Given the description of an element on the screen output the (x, y) to click on. 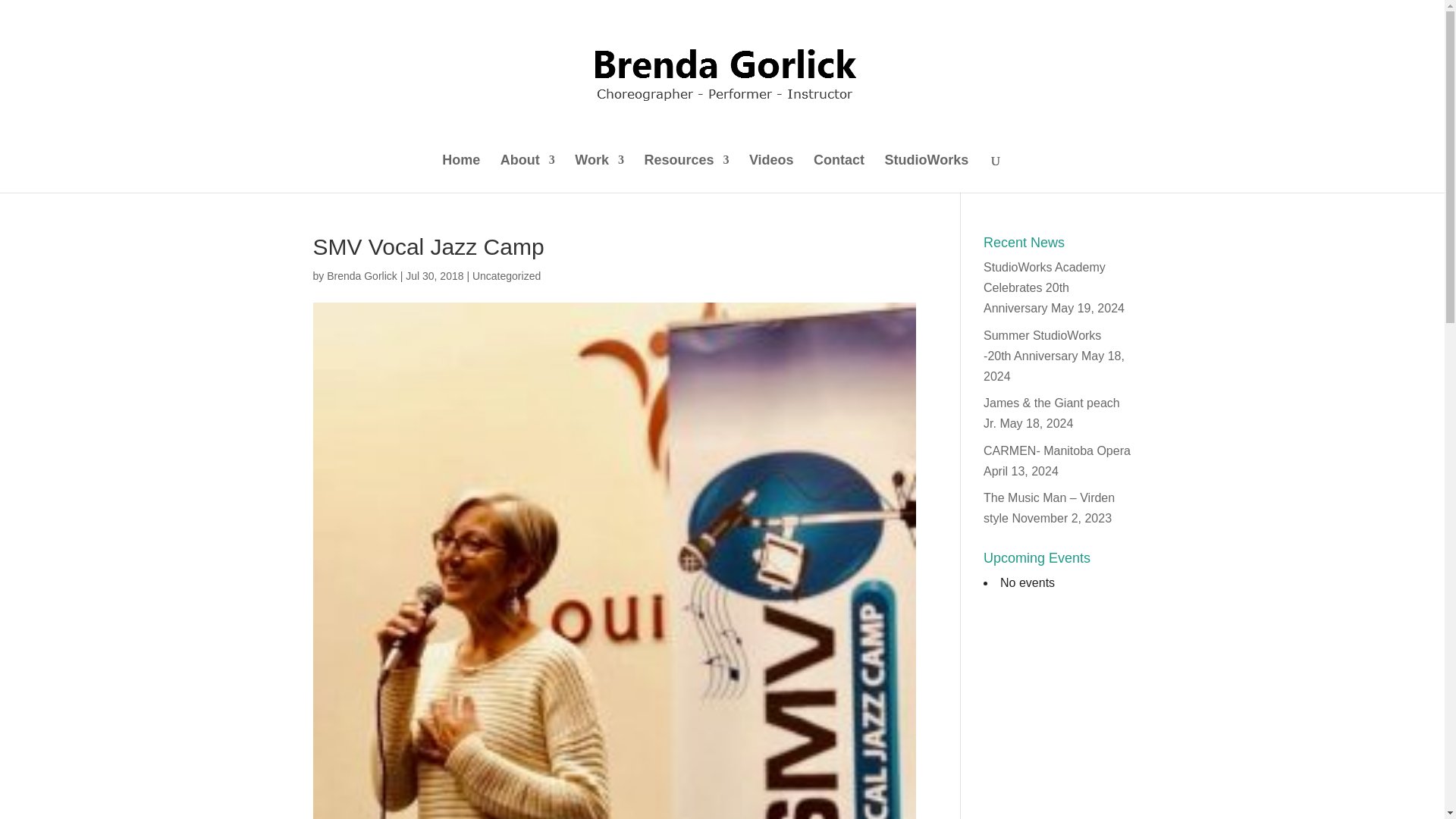
StudioWorks Academy Celebrates 20th Anniversary (1044, 287)
Work (599, 173)
Home (461, 173)
Posts by Brenda Gorlick (361, 275)
Brenda Gorlick (361, 275)
Videos (771, 173)
Summer StudioWorks -20th Anniversary (1042, 345)
Contact (838, 173)
StudioWorks (927, 173)
Resources (686, 173)
